Given the description of an element on the screen output the (x, y) to click on. 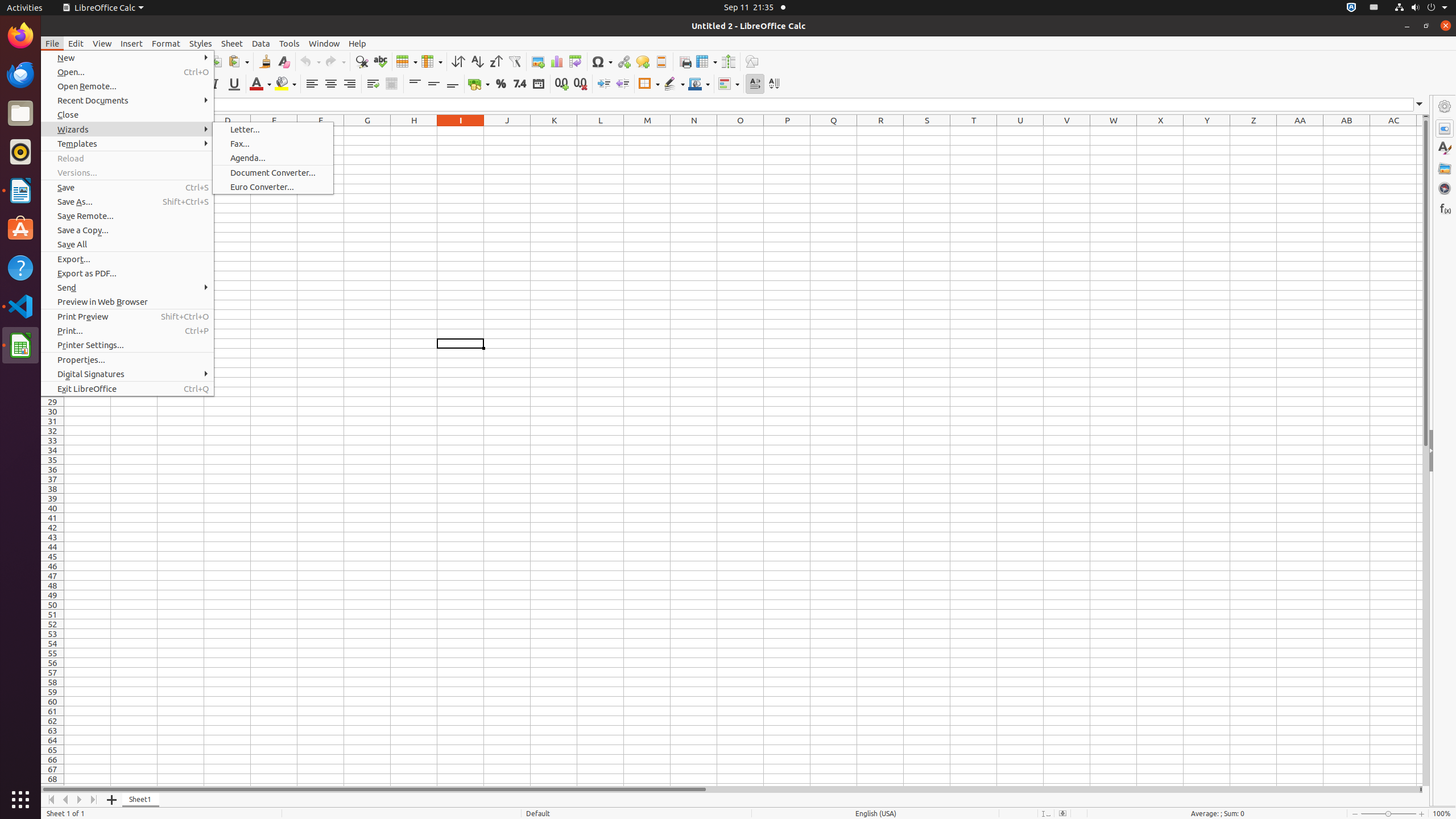
Save a Copy... Element type: menu-item (126, 229)
AC1 Element type: table-cell (1393, 130)
Border Color Element type: push-button (698, 83)
U1 Element type: table-cell (1020, 130)
Insert Element type: menu (131, 43)
